Given the description of an element on the screen output the (x, y) to click on. 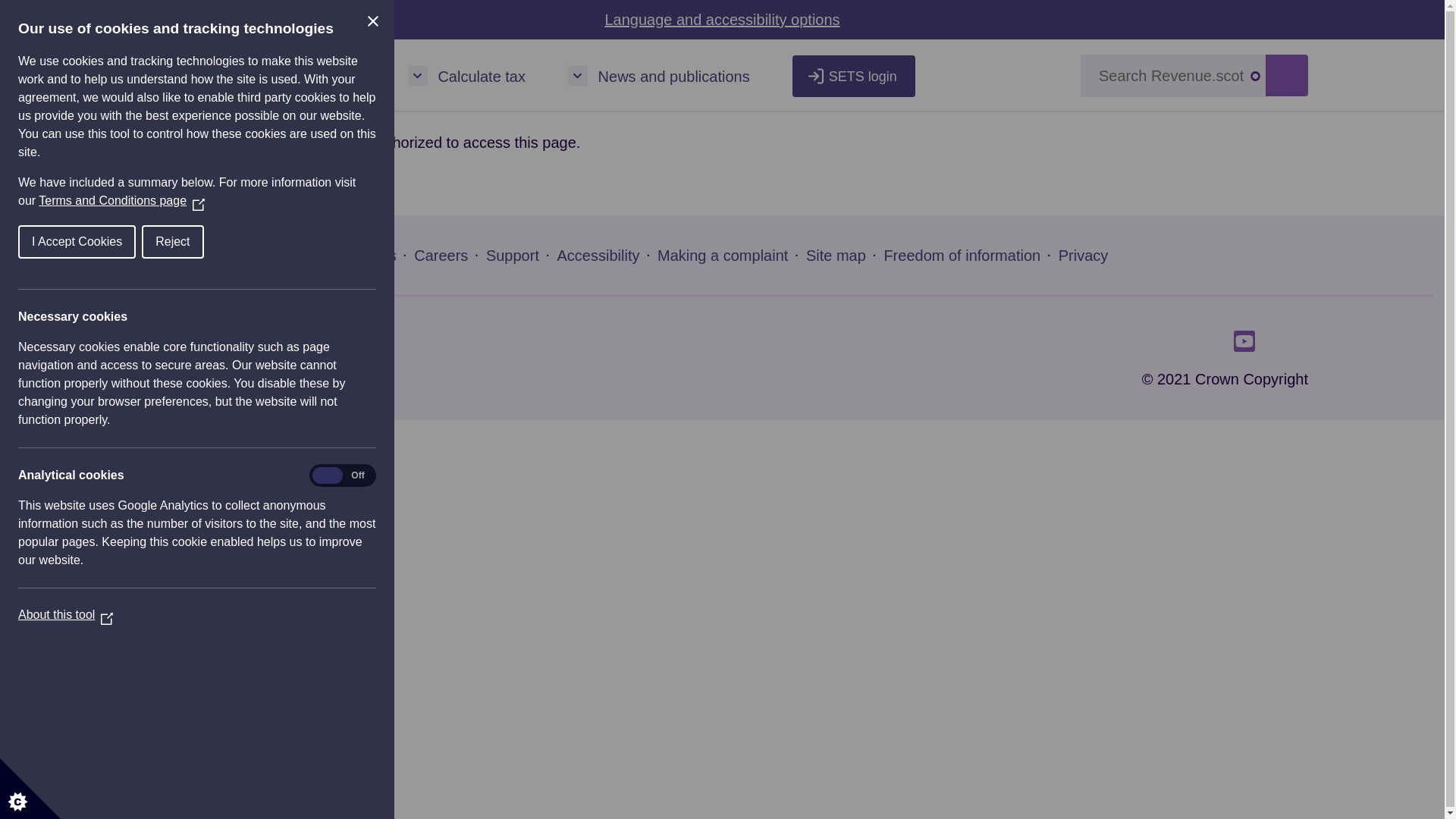
Toggle Taxes sub menu (305, 75)
I Accept Cookies (42, 241)
Search (1286, 75)
Toggle Taxes sub menu (305, 75)
Reject (142, 241)
Taxes (345, 75)
Taxes (345, 75)
